Given the description of an element on the screen output the (x, y) to click on. 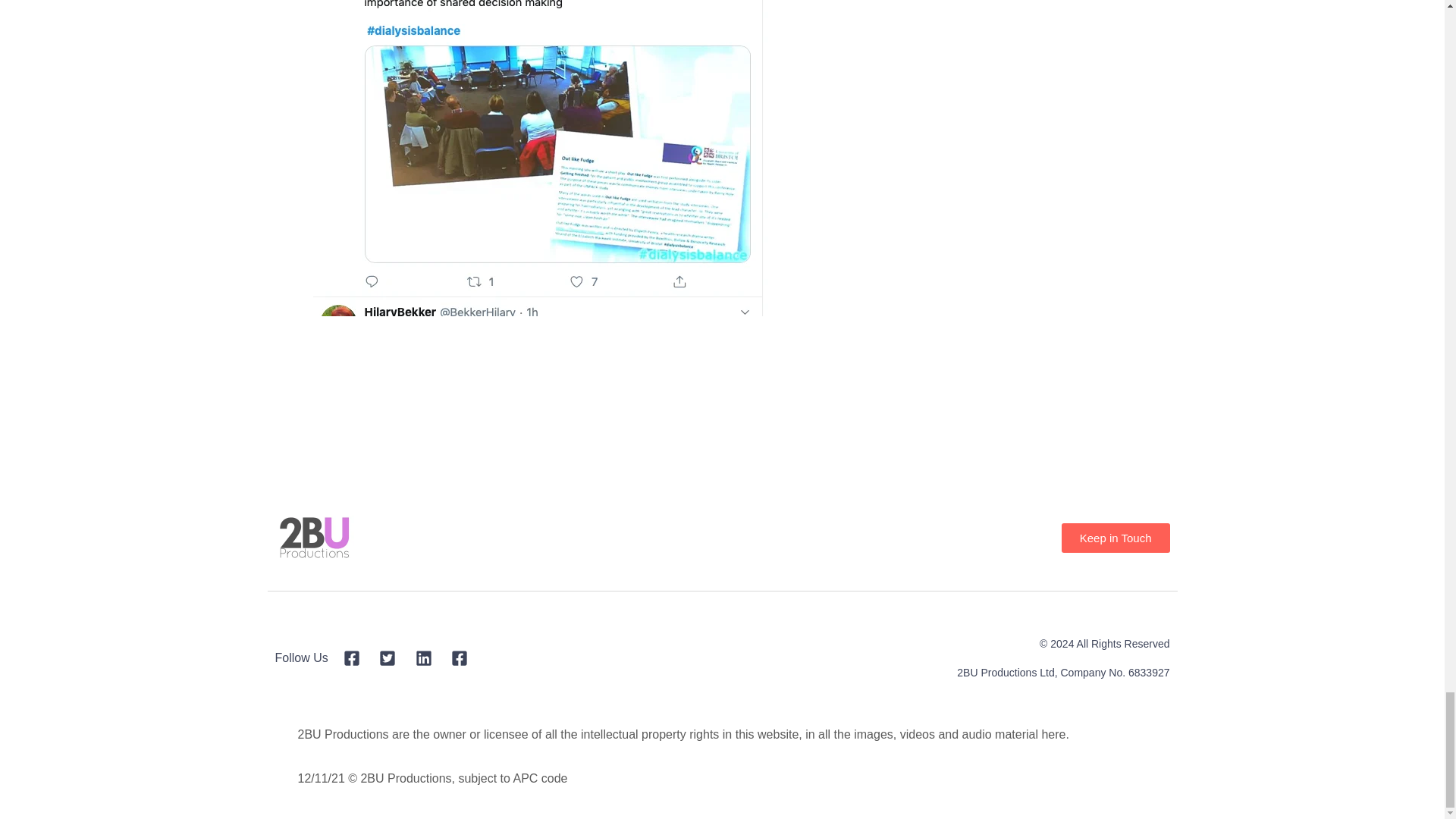
Keep in Touch (1115, 537)
